Given the description of an element on the screen output the (x, y) to click on. 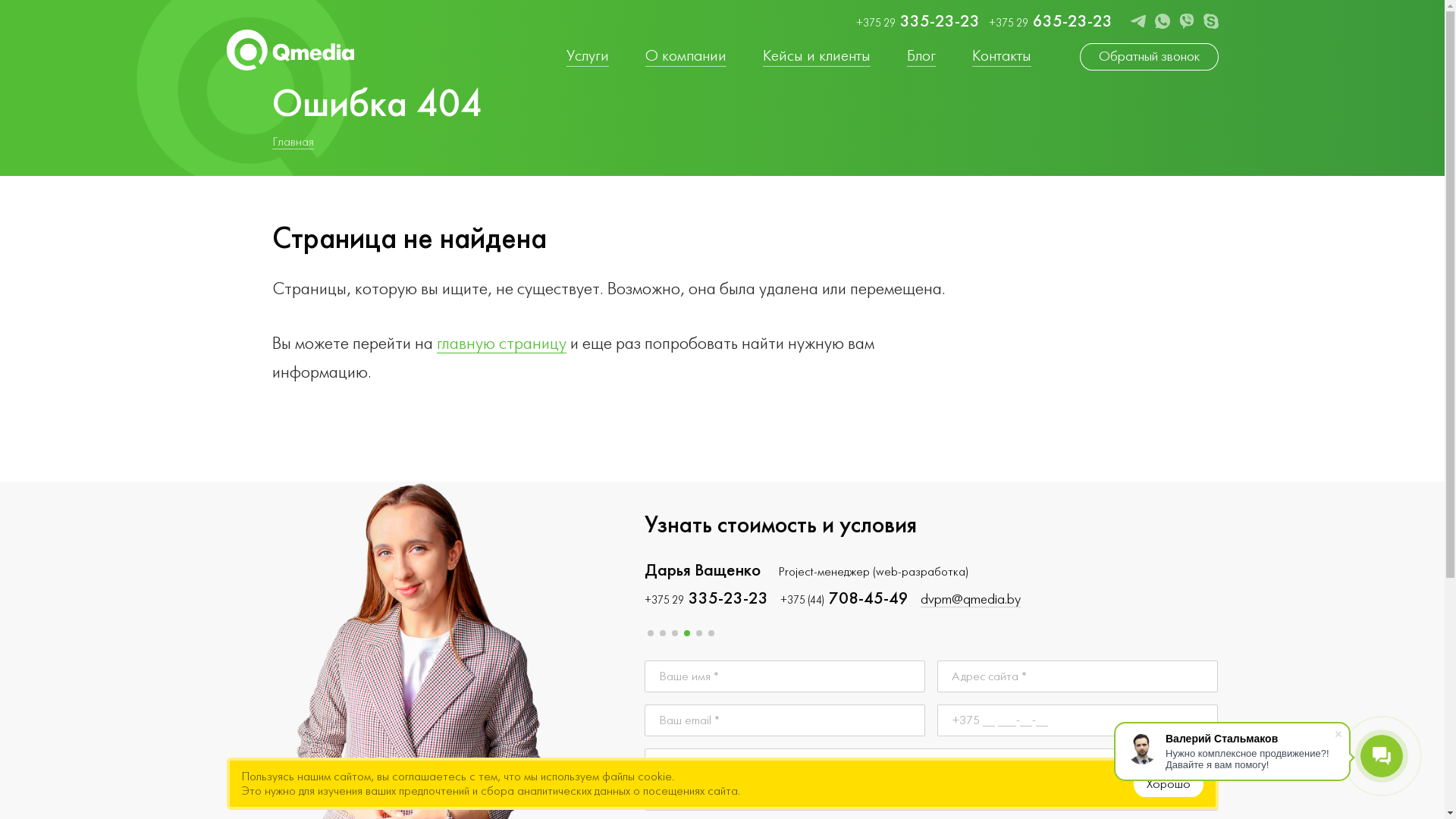
+375 29 Element type: text (1279, 599)
+375 29 635-23-23 Element type: text (1050, 22)
+375 29 335-23-23 Element type: text (841, 599)
+375 29 335-23-23 Element type: text (917, 22)
valeriy@qmedia.by Element type: text (967, 599)
+375 29 335-23-23 Element type: text (706, 599)
